Given the description of an element on the screen output the (x, y) to click on. 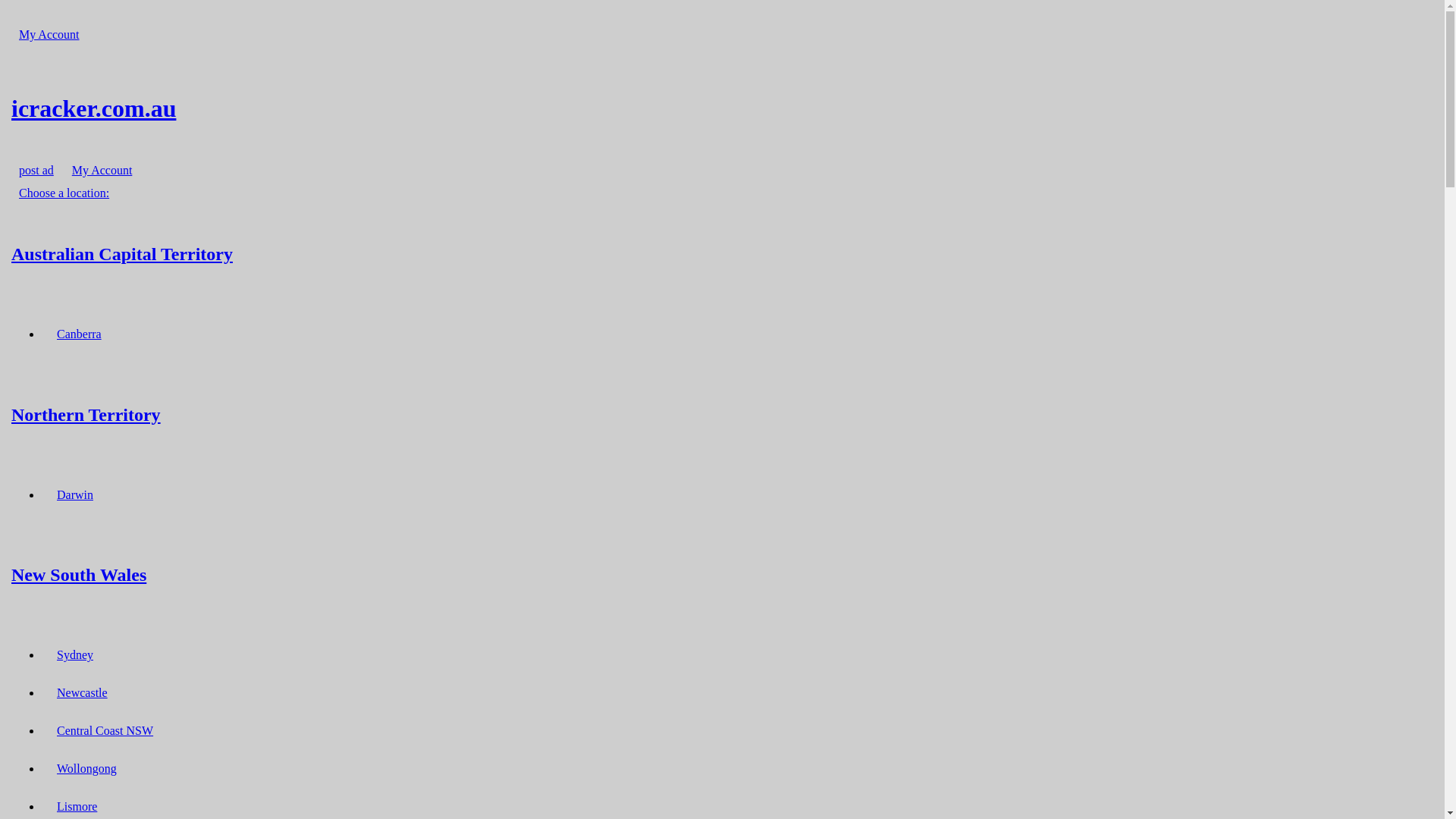
My Account Element type: text (49, 34)
icracker.com.au Element type: text (722, 108)
Newcastle Element type: text (82, 692)
Sydney Element type: text (74, 654)
post ad Element type: text (36, 170)
Choose a location: Element type: text (63, 192)
New South Wales Element type: text (722, 575)
Darwin Element type: text (74, 494)
Northern Territory Element type: text (722, 414)
Australian Capital Territory Element type: text (722, 253)
My Account Element type: text (102, 170)
Central Coast NSW Element type: text (104, 730)
Wollongong Element type: text (86, 768)
Canberra Element type: text (79, 334)
